Given the description of an element on the screen output the (x, y) to click on. 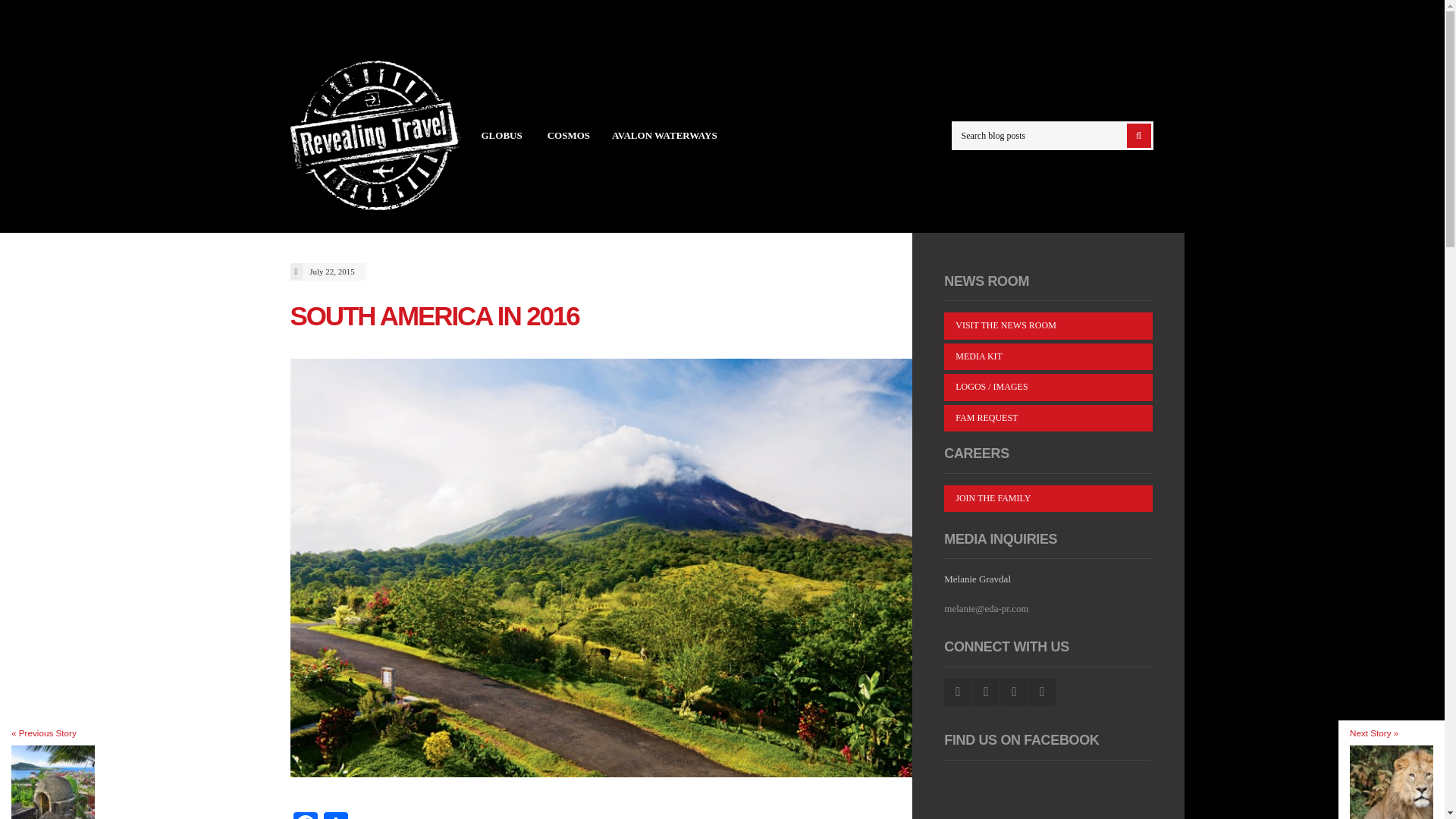
Facebook (304, 815)
Facebook (304, 815)
Twitter (985, 691)
AVALON WATERWAYS (664, 135)
You Tube (1041, 691)
Pinterest (1013, 691)
COSMOS (568, 135)
Facebook (957, 691)
Search blog posts (1051, 135)
SOUTH AMERICA IN 2016 (433, 315)
